Given the description of an element on the screen output the (x, y) to click on. 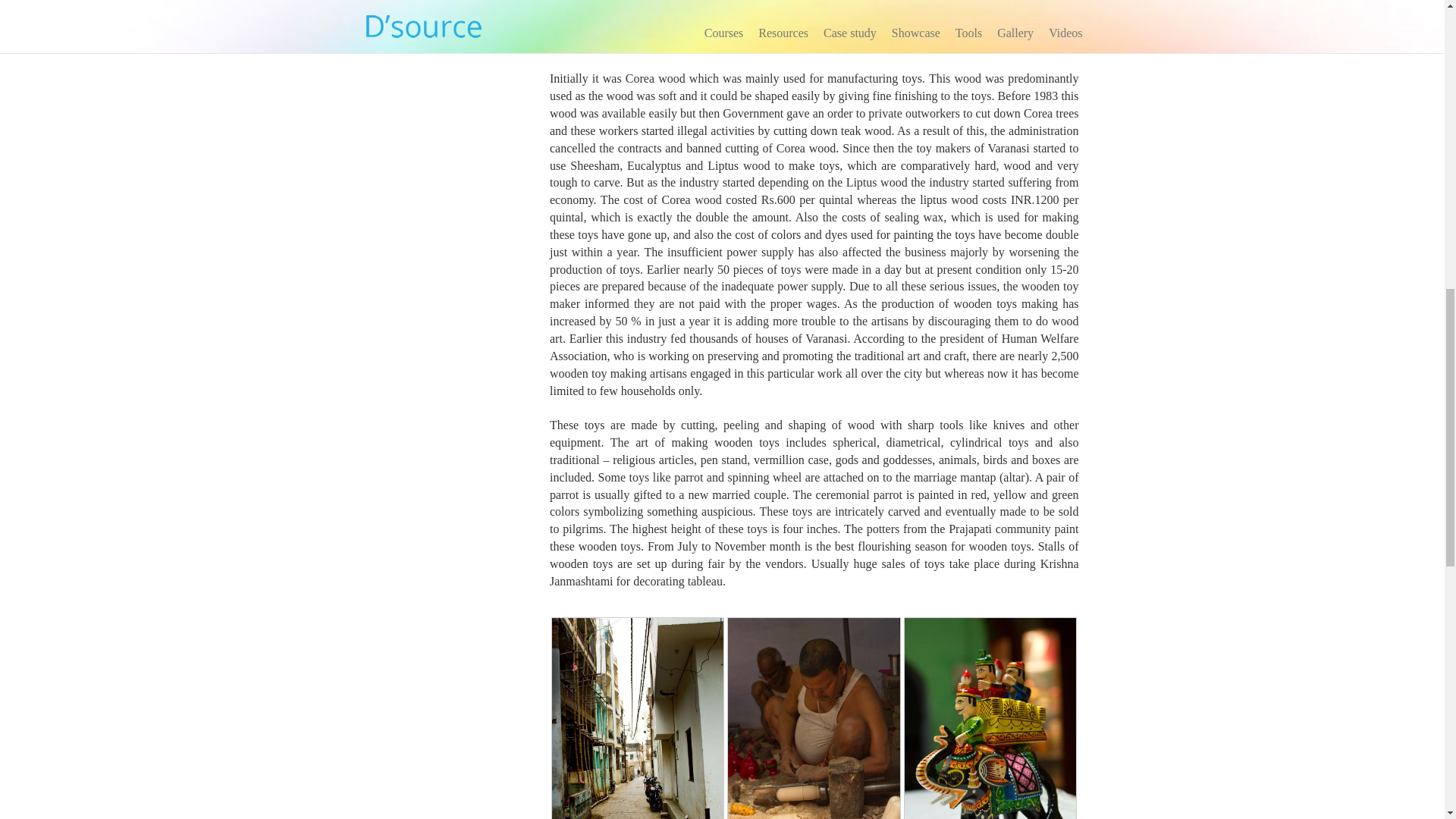
A lovely scenario of one of the streets in Kashmiri Ganj. (637, 744)
The working arena of craftsman. (812, 744)
